Given the description of an element on the screen output the (x, y) to click on. 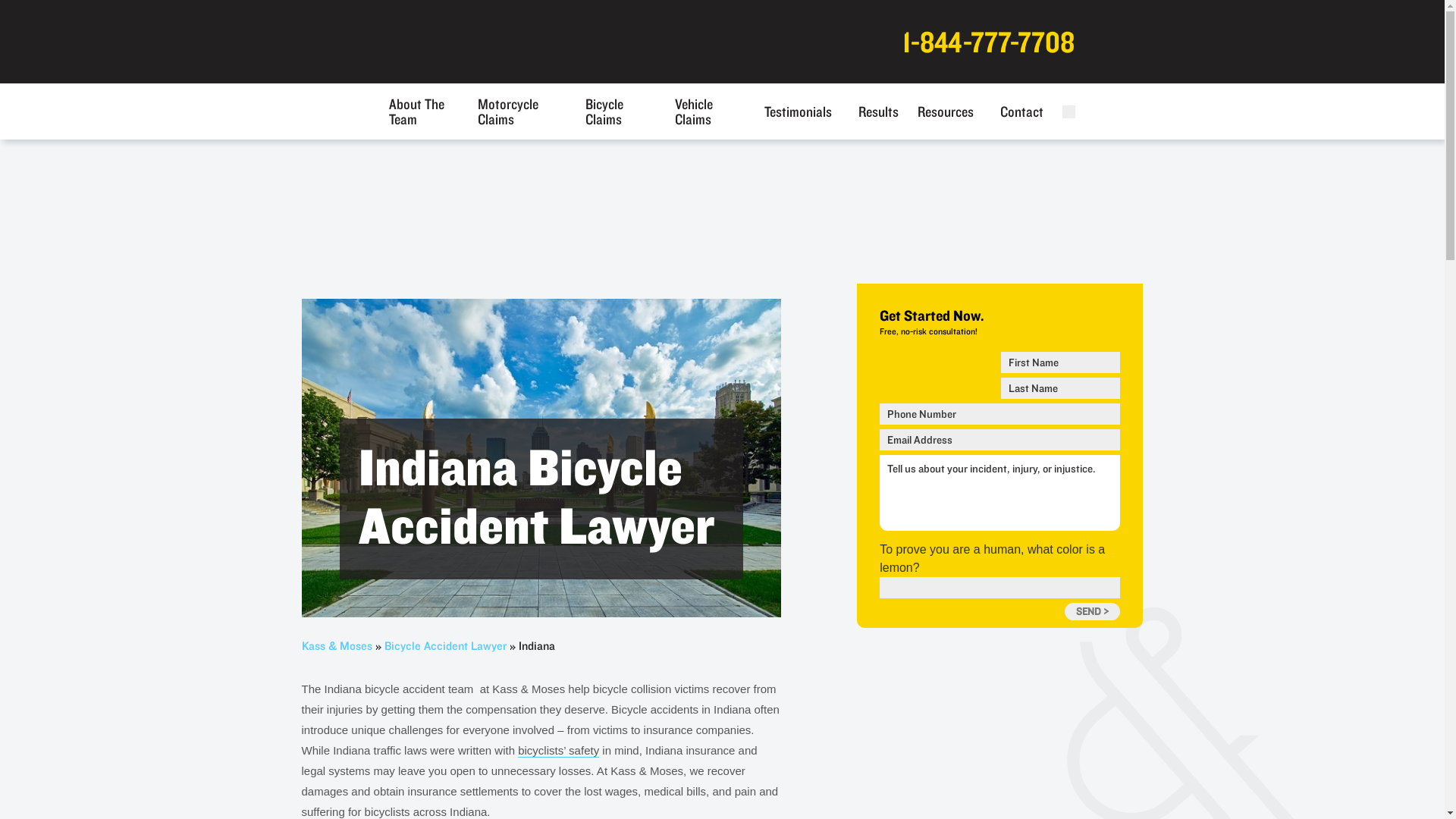
Bicycle Claims (616, 110)
Resources (945, 111)
Vehicle Claims (706, 110)
Testimonials (797, 111)
1-844-777-7708 (988, 41)
Results (878, 111)
Motorcycle Claims (518, 110)
About The Team (423, 110)
